Given the description of an element on the screen output the (x, y) to click on. 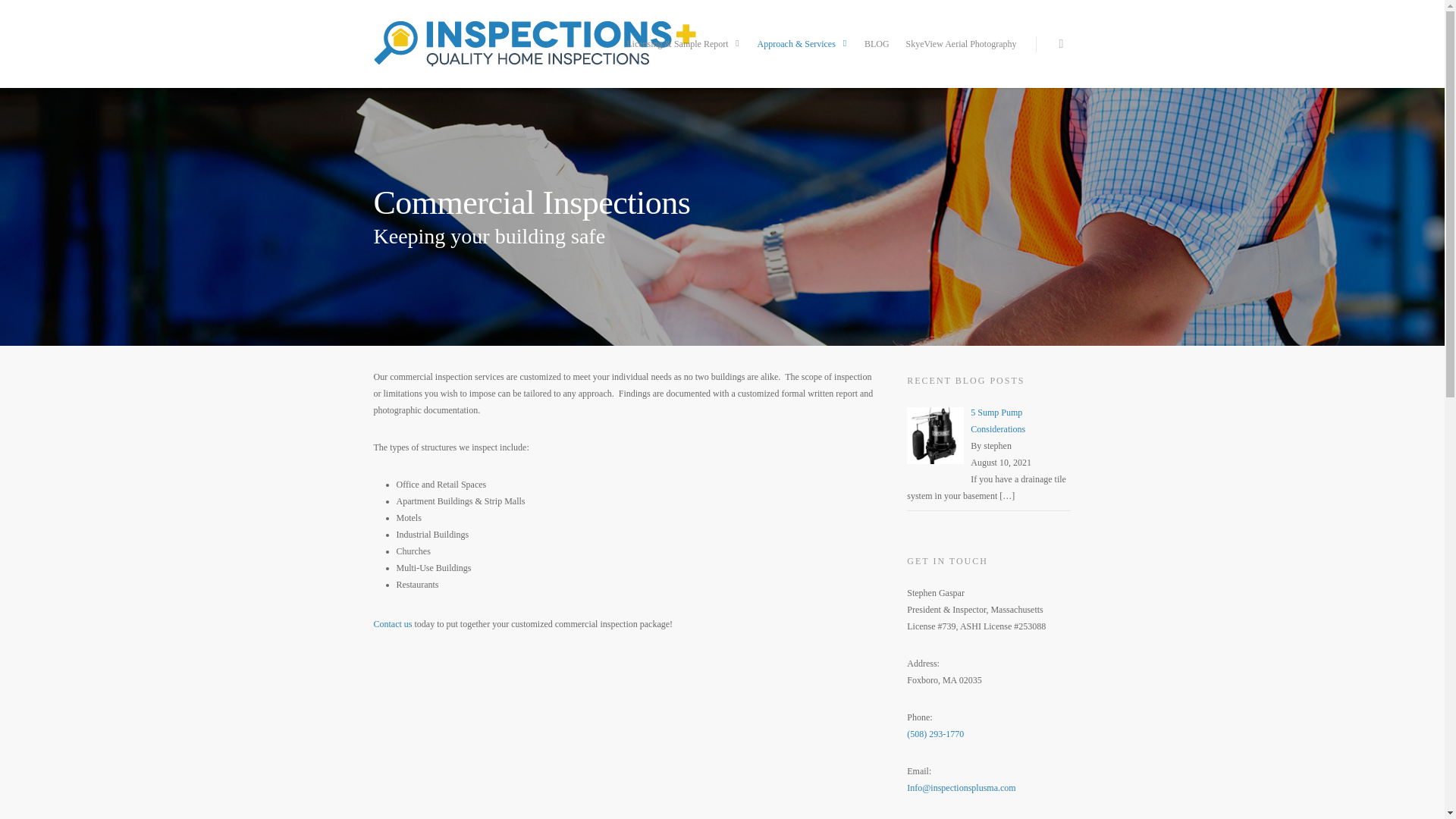
Contact (392, 624)
SkyeView Aerial Photography (961, 54)
